Given the description of an element on the screen output the (x, y) to click on. 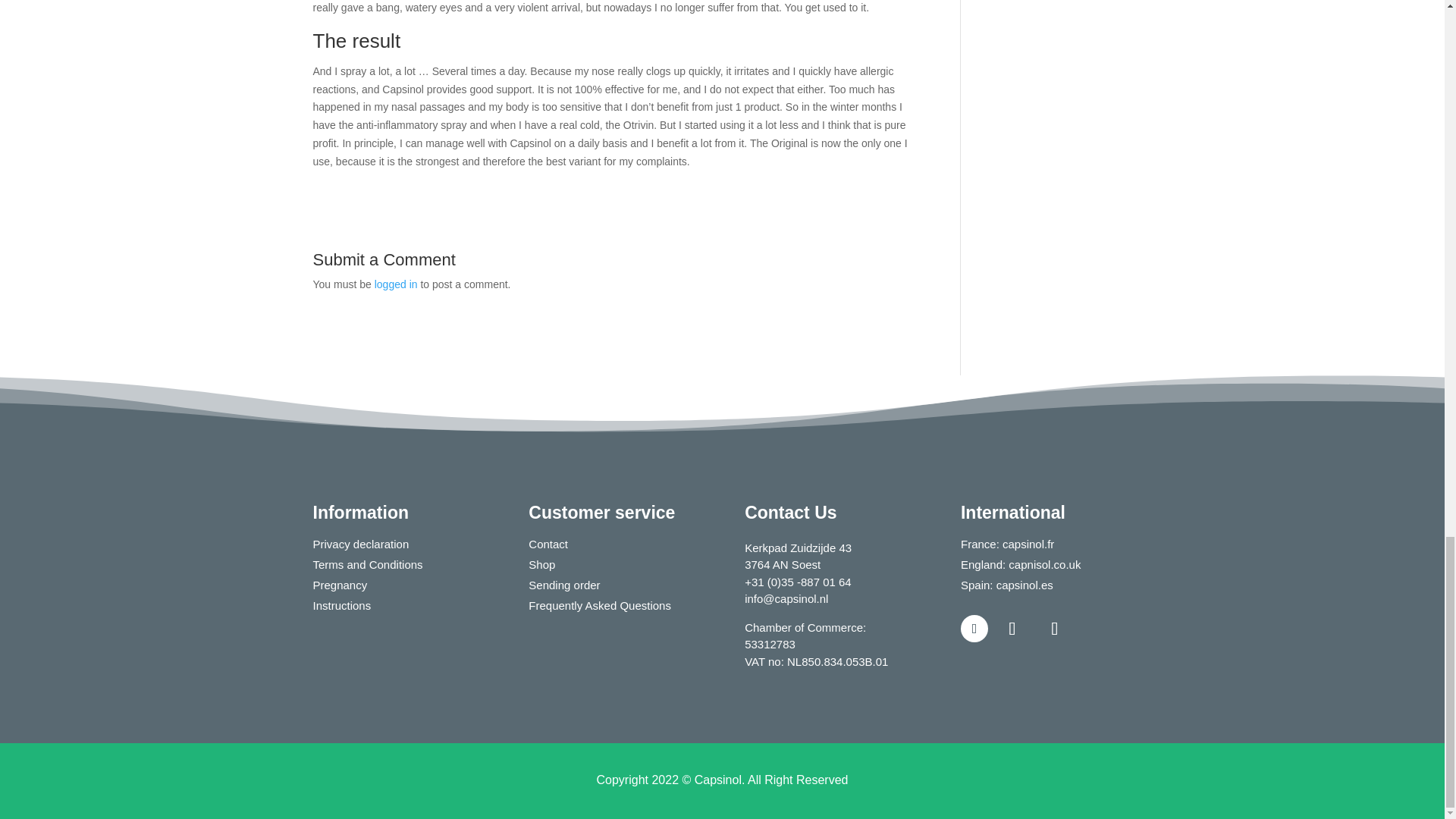
England: capnisol.co.uk (1020, 563)
Follow on X (1054, 628)
Terms and Conditions (367, 563)
Spain: capsinol.es (1006, 584)
Instructions (342, 604)
Pregnancy (339, 584)
France: capsinol.fr (1007, 543)
Privacy declaration (361, 543)
Contact (547, 543)
Shop (541, 563)
